Given the description of an element on the screen output the (x, y) to click on. 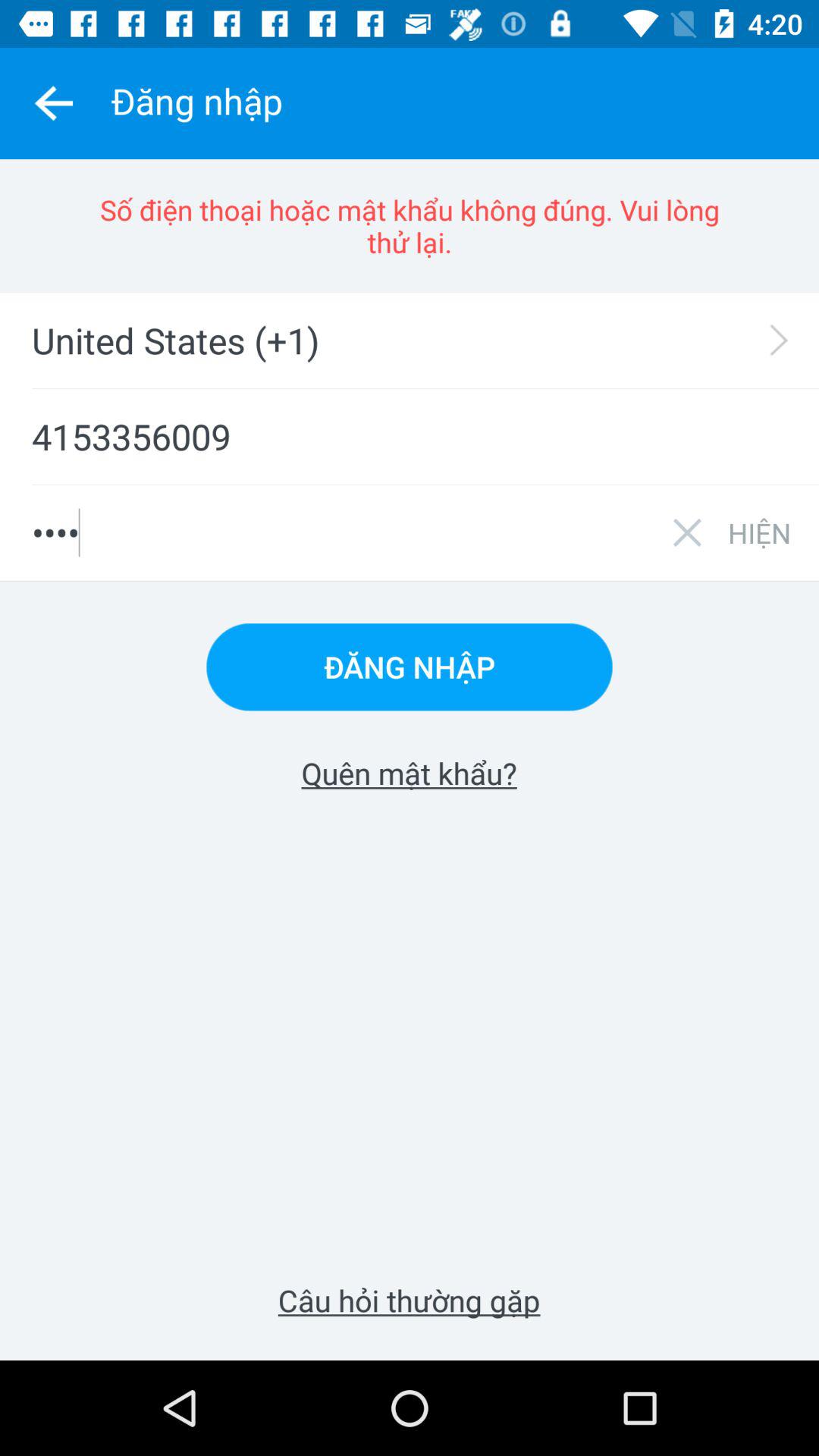
tap item below the united states (+1) (409, 436)
